Given the description of an element on the screen output the (x, y) to click on. 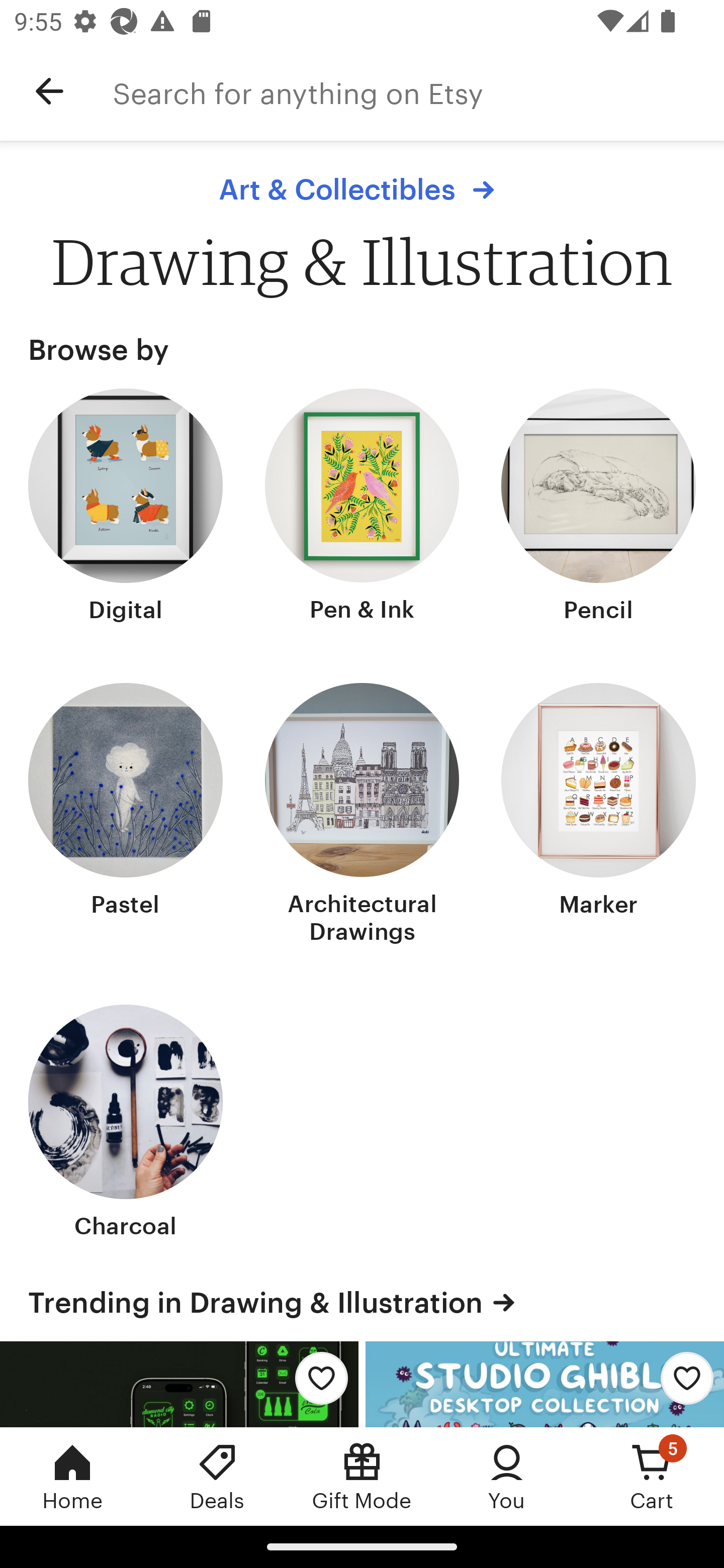
Navigate up (49, 91)
Search for anything on Etsy (418, 91)
Art & Collectibles (361, 189)
Digital (125, 507)
Pen & Ink (361, 507)
Pencil (598, 507)
Pastel (125, 815)
Architectural Drawings (361, 815)
Marker (598, 815)
Charcoal (125, 1124)
Trending in Drawing & Illustration  (361, 1301)
Deals (216, 1475)
Gift Mode (361, 1475)
You (506, 1475)
Cart, 5 new notifications Cart (651, 1475)
